Given the description of an element on the screen output the (x, y) to click on. 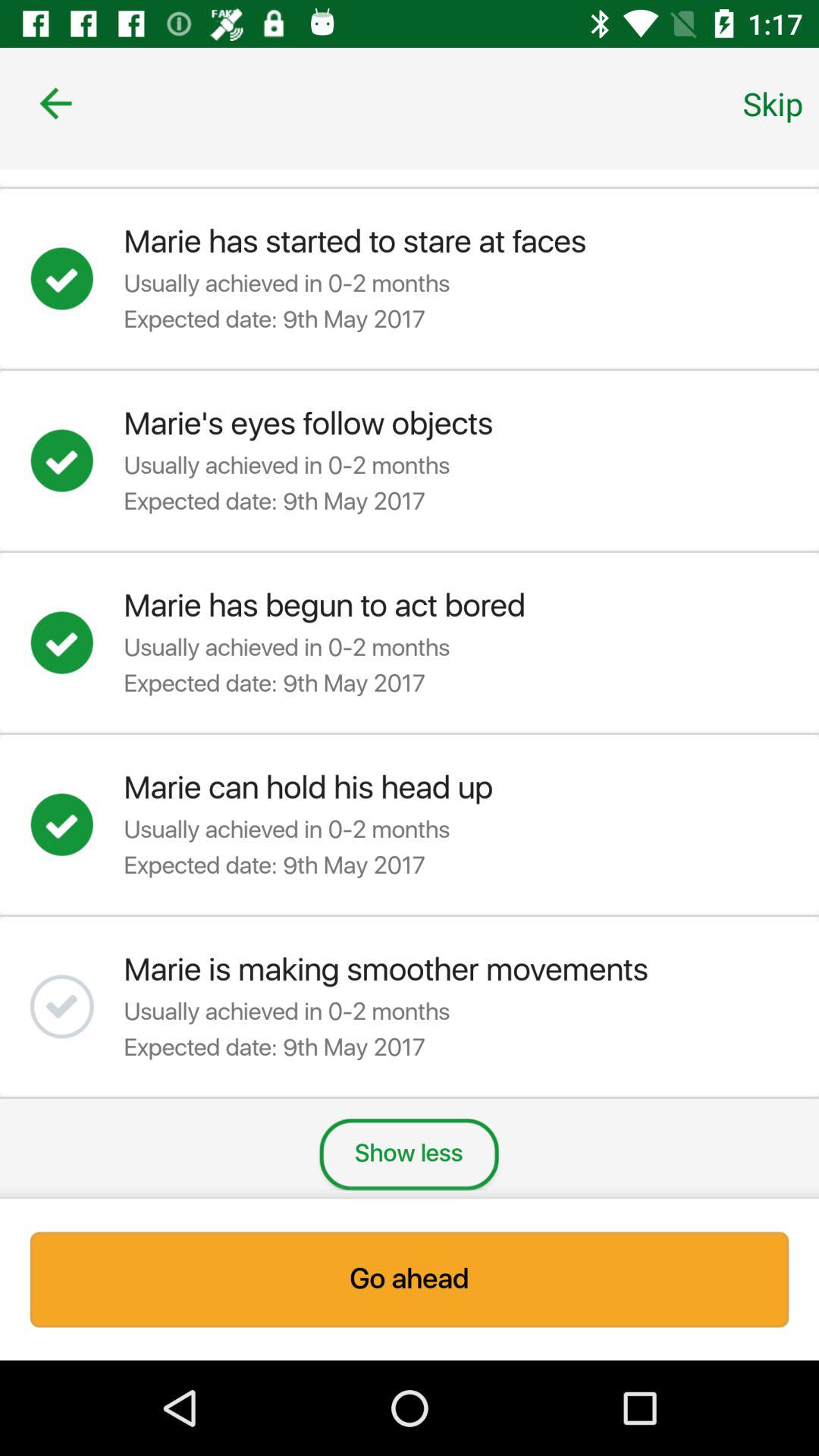
select the show less icon (408, 1154)
